Given the description of an element on the screen output the (x, y) to click on. 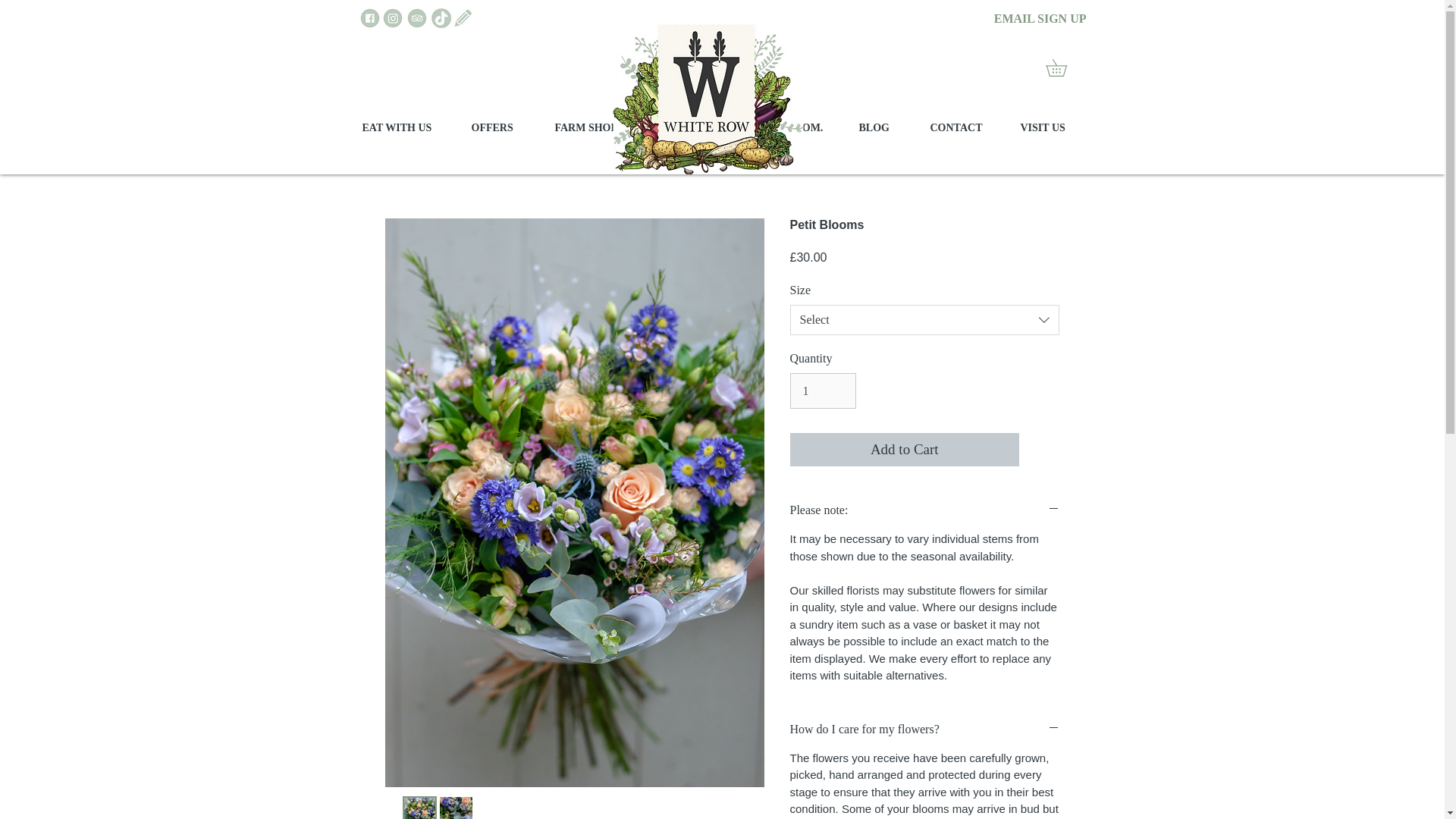
Add to Cart (905, 449)
1 (823, 390)
OFFERS (500, 127)
Select (924, 319)
BLOG (882, 127)
How do I care for my flowers? (924, 729)
Please note: (924, 509)
EMAIL SIGN UP (1029, 19)
CONTACT (963, 127)
FARM SHOP (594, 127)
HOME PAGE HOME PAGE HOM. (747, 127)
